Given the description of an element on the screen output the (x, y) to click on. 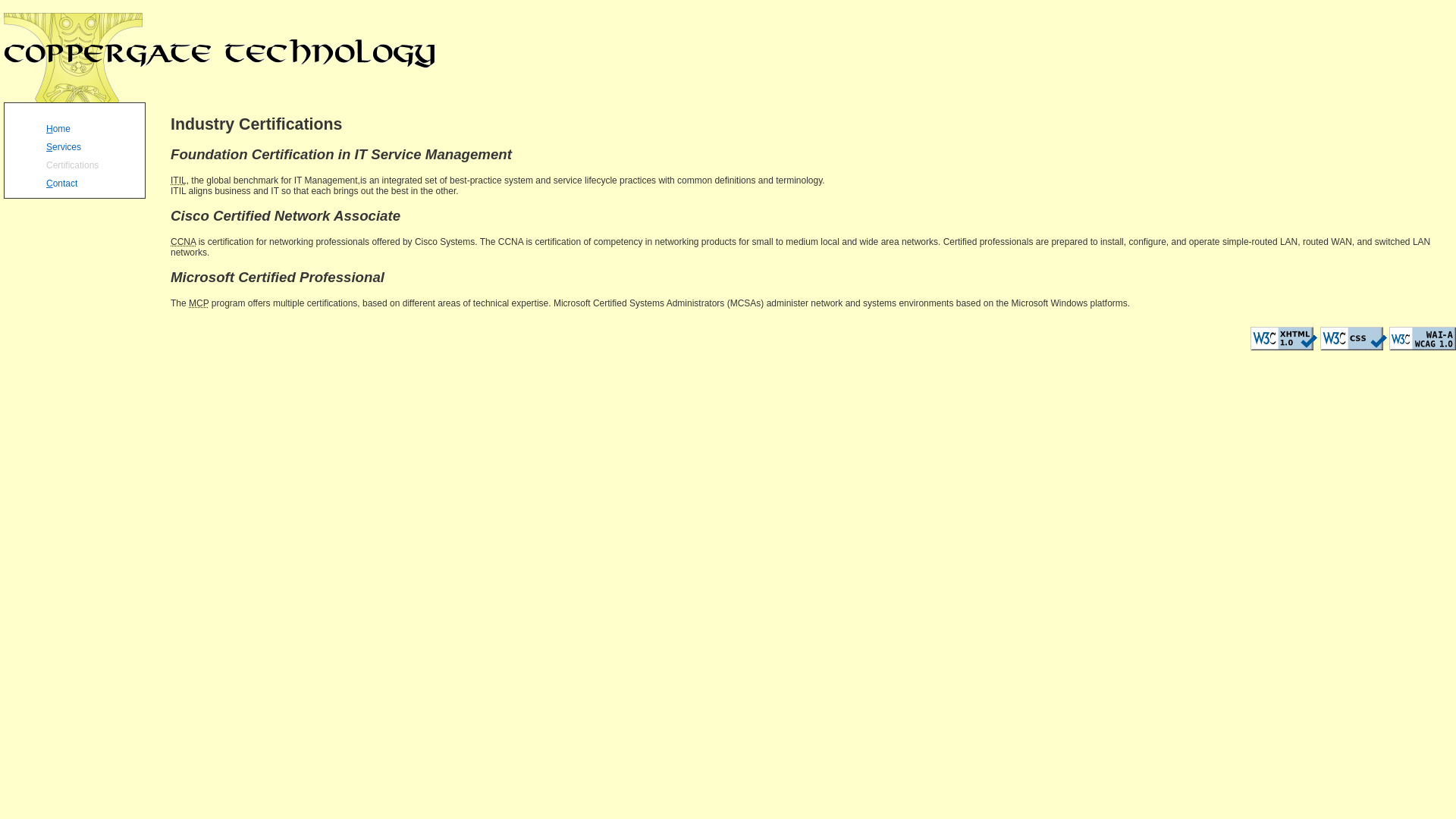
Services Element type: text (93, 145)
Contact Element type: text (93, 181)
Home Element type: text (93, 126)
